Given the description of an element on the screen output the (x, y) to click on. 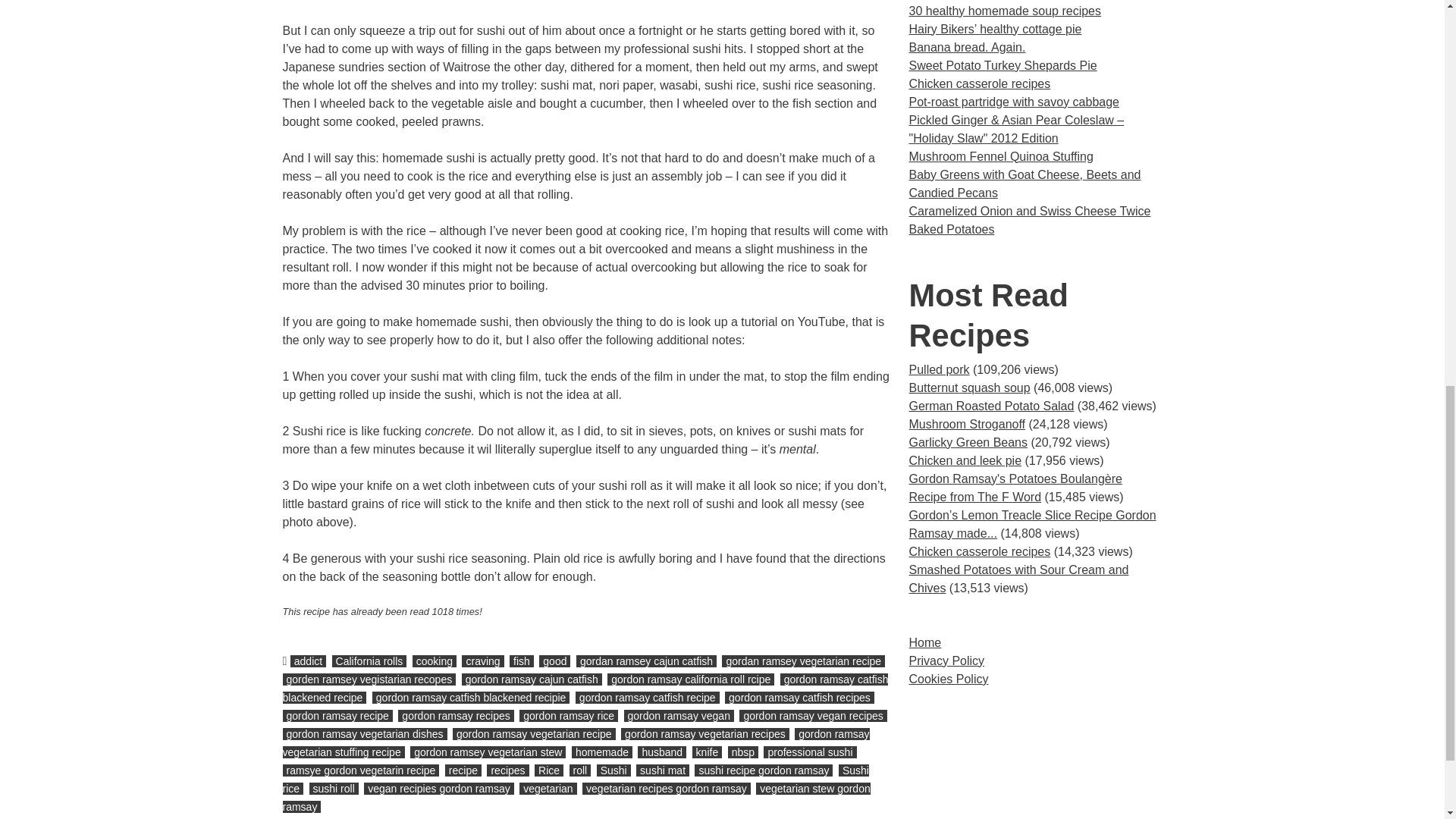
Butternut squash soup (968, 387)
gordon ramsay recipes (455, 715)
Mushroom Stroganoff (966, 423)
gordon ramsay california roll rcipe (690, 679)
gordon ramsay vegan (678, 715)
knife (707, 752)
Chicken and leek pie (965, 460)
craving (482, 661)
gordan ramsey vegetarian recipe (803, 661)
gordon ramsey vegetarian stew (488, 752)
